Given the description of an element on the screen output the (x, y) to click on. 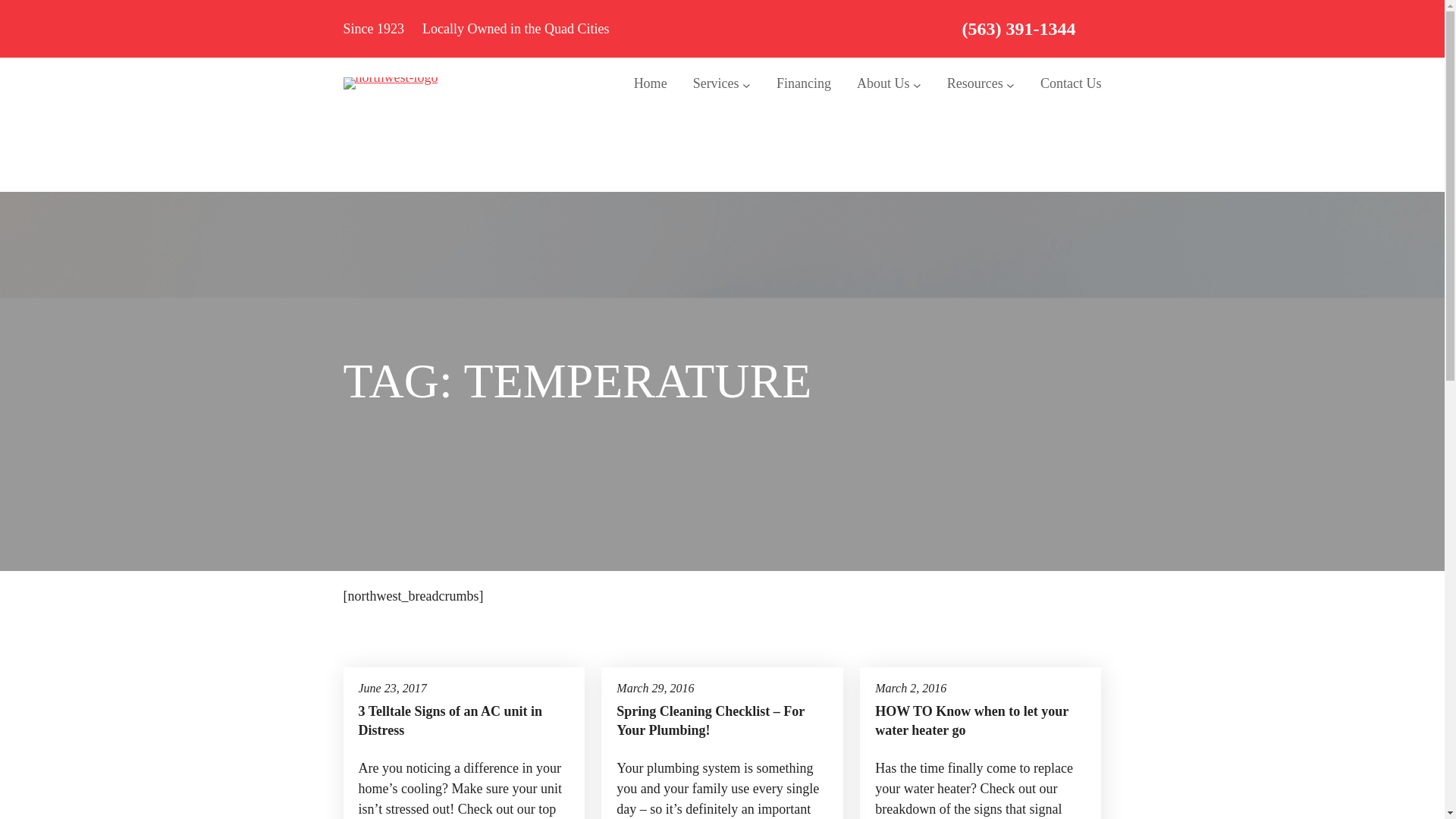
Financing (803, 83)
March 29, 2016 (654, 687)
March 2, 2016 (910, 687)
Home (649, 83)
June 23, 2017 (392, 687)
HOW TO Know when to let your water heater go (980, 720)
Resources (975, 83)
Services (716, 83)
3 Telltale Signs of an AC unit in Distress (463, 720)
About Us (883, 83)
Contact Us (1071, 83)
